Given the description of an element on the screen output the (x, y) to click on. 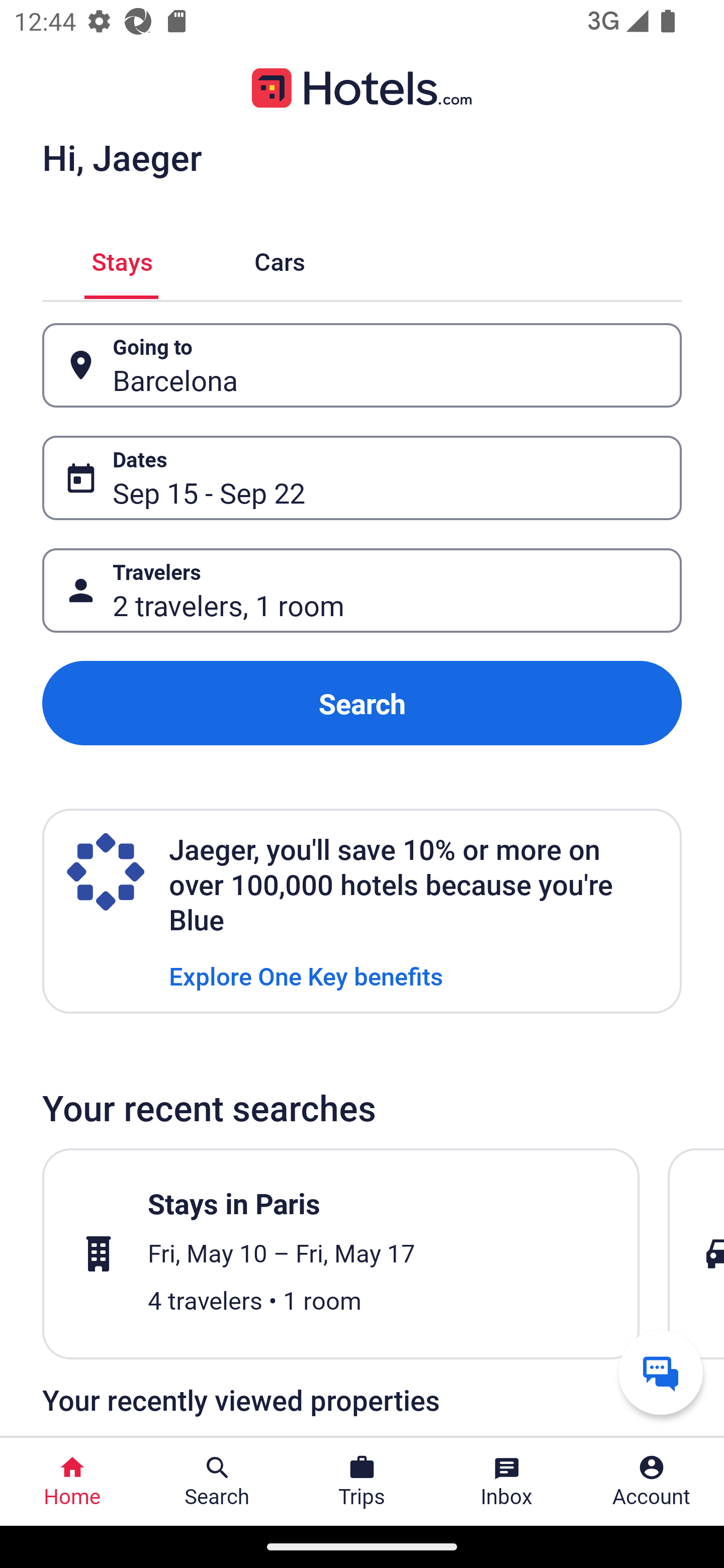
Hi, Jaeger (121, 156)
Cars (279, 259)
Going to Button Barcelona (361, 365)
Dates Button Sep 15 - Sep 22 (361, 477)
Travelers Button 2 travelers, 1 room (361, 590)
Search (361, 702)
Get help from a virtual agent (660, 1371)
Search Search Button (216, 1481)
Trips Trips Button (361, 1481)
Inbox Inbox Button (506, 1481)
Account Profile. Button (651, 1481)
